Given the description of an element on the screen output the (x, y) to click on. 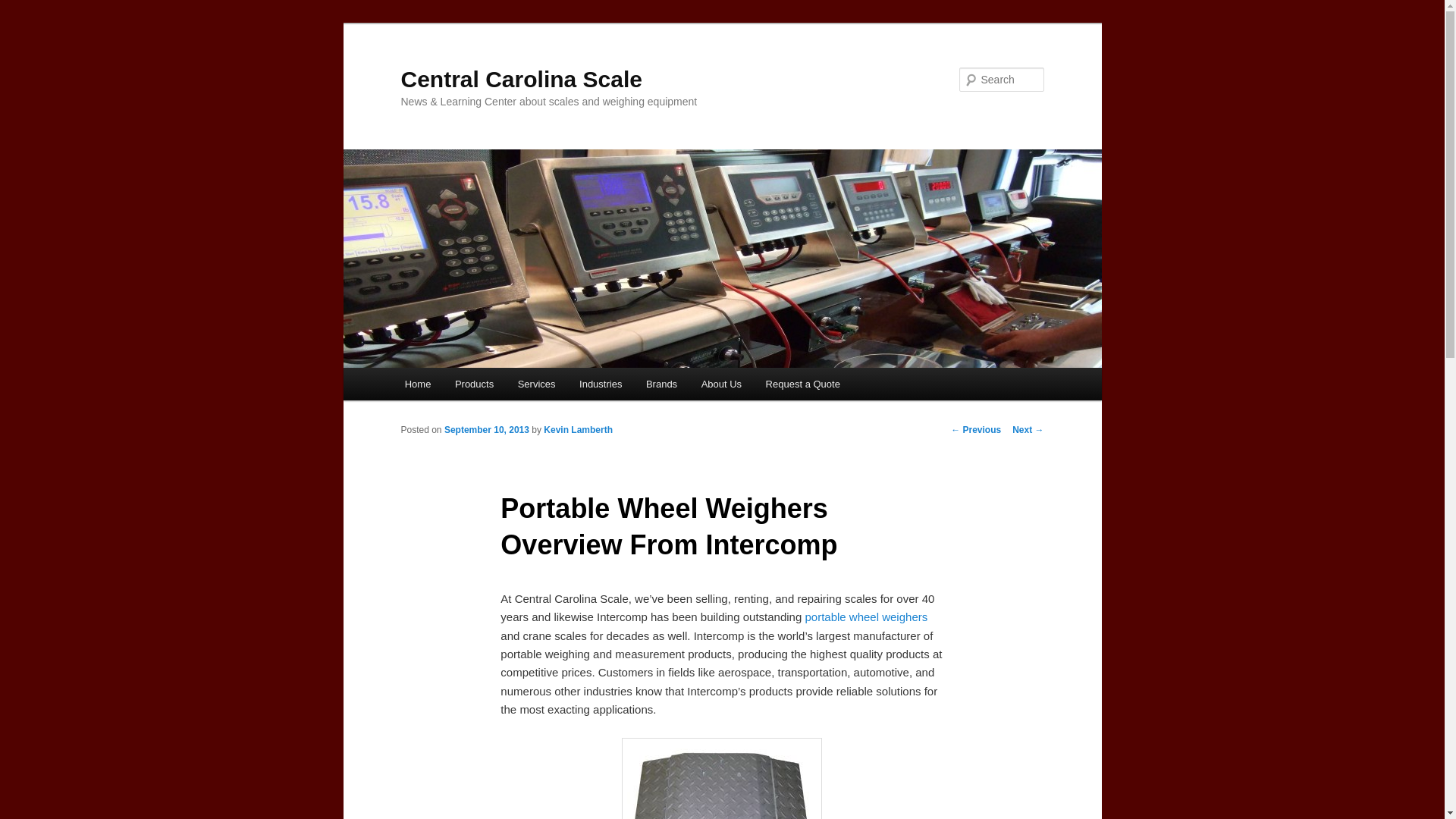
View all posts by Kevin Lamberth (577, 429)
12:07 pm (486, 429)
About Us (721, 383)
Industries (600, 383)
Central Carolina Scale (521, 78)
portable wheel weighers (866, 616)
Home (417, 383)
Services (536, 383)
Brands (660, 383)
